Given the description of an element on the screen output the (x, y) to click on. 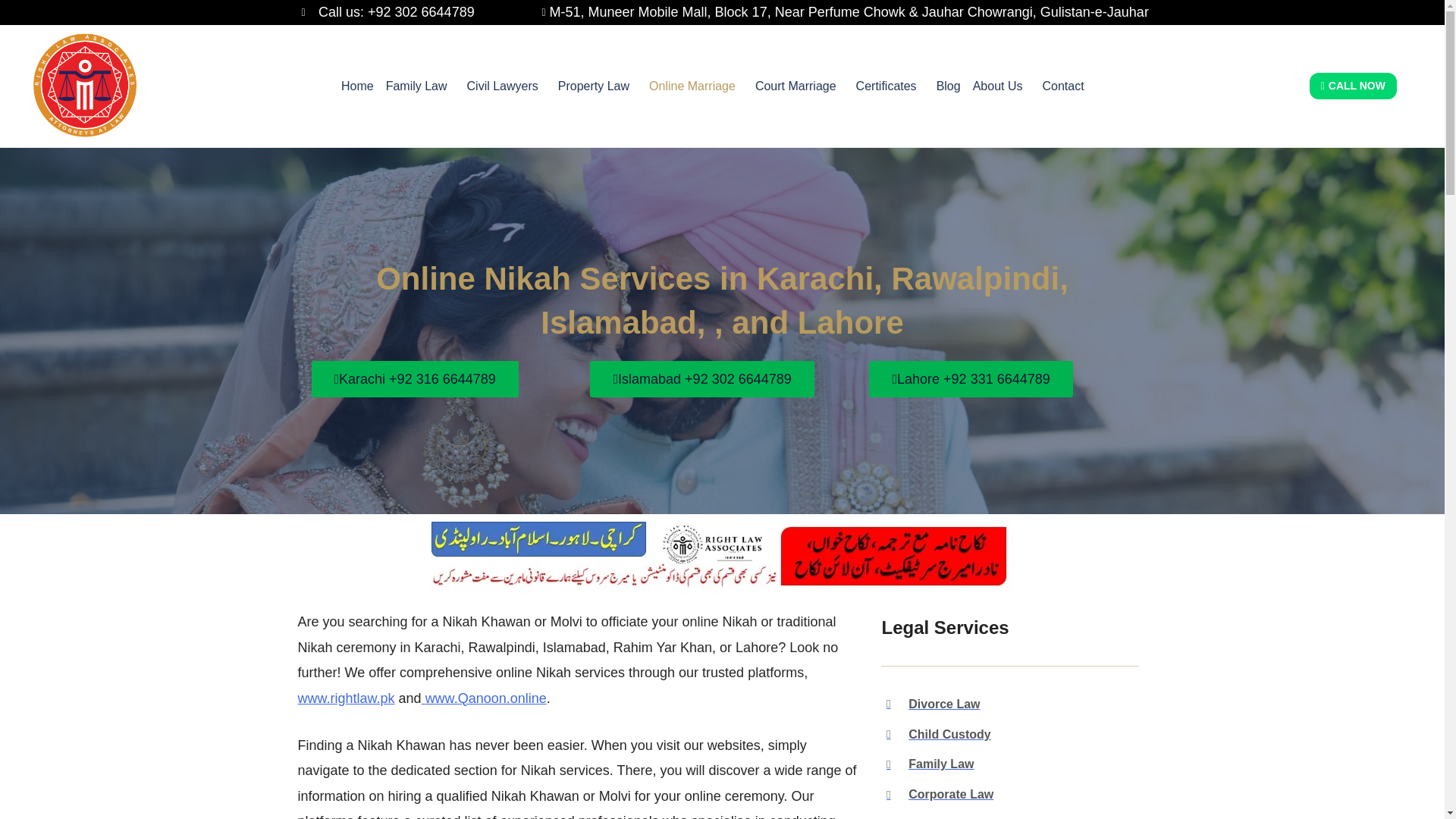
Legal Services (1009, 628)
Family Law (420, 86)
Online Marriage (695, 86)
Certificates (890, 86)
Property Law (597, 86)
Home (357, 86)
CALL NOW (1353, 85)
Court Marriage (799, 86)
Civil Lawyers (506, 86)
